Given the description of an element on the screen output the (x, y) to click on. 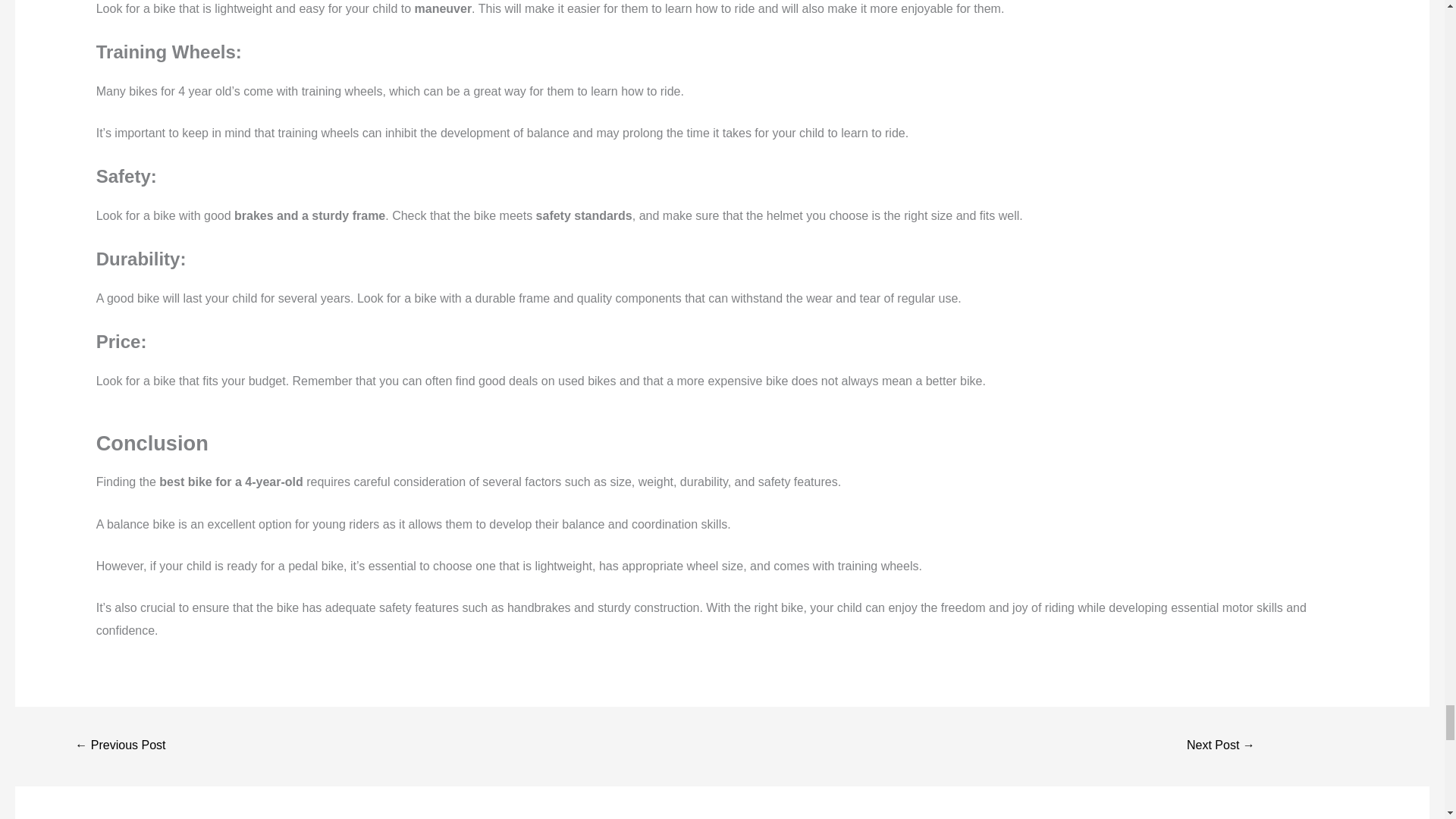
Best continental bicycle tires (1220, 746)
Best bikes for 6 year old Boys and girls (119, 746)
